Given the description of an element on the screen output the (x, y) to click on. 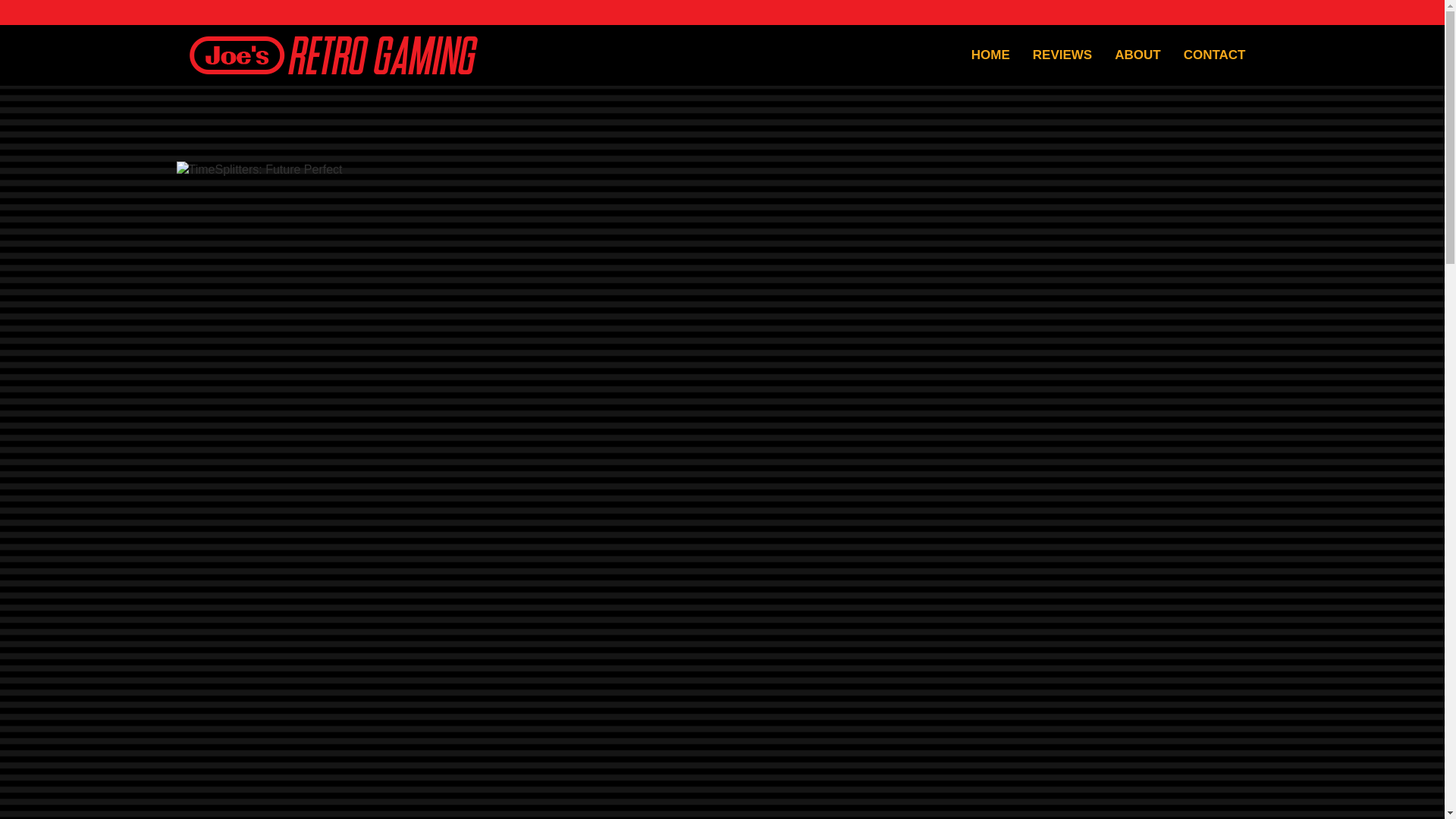
Home (990, 55)
CONTACT (1214, 55)
About (1137, 55)
Reviews (1062, 55)
HOME (990, 55)
ABOUT (1137, 55)
Contact (1214, 55)
REVIEWS (1062, 55)
